Given the description of an element on the screen output the (x, y) to click on. 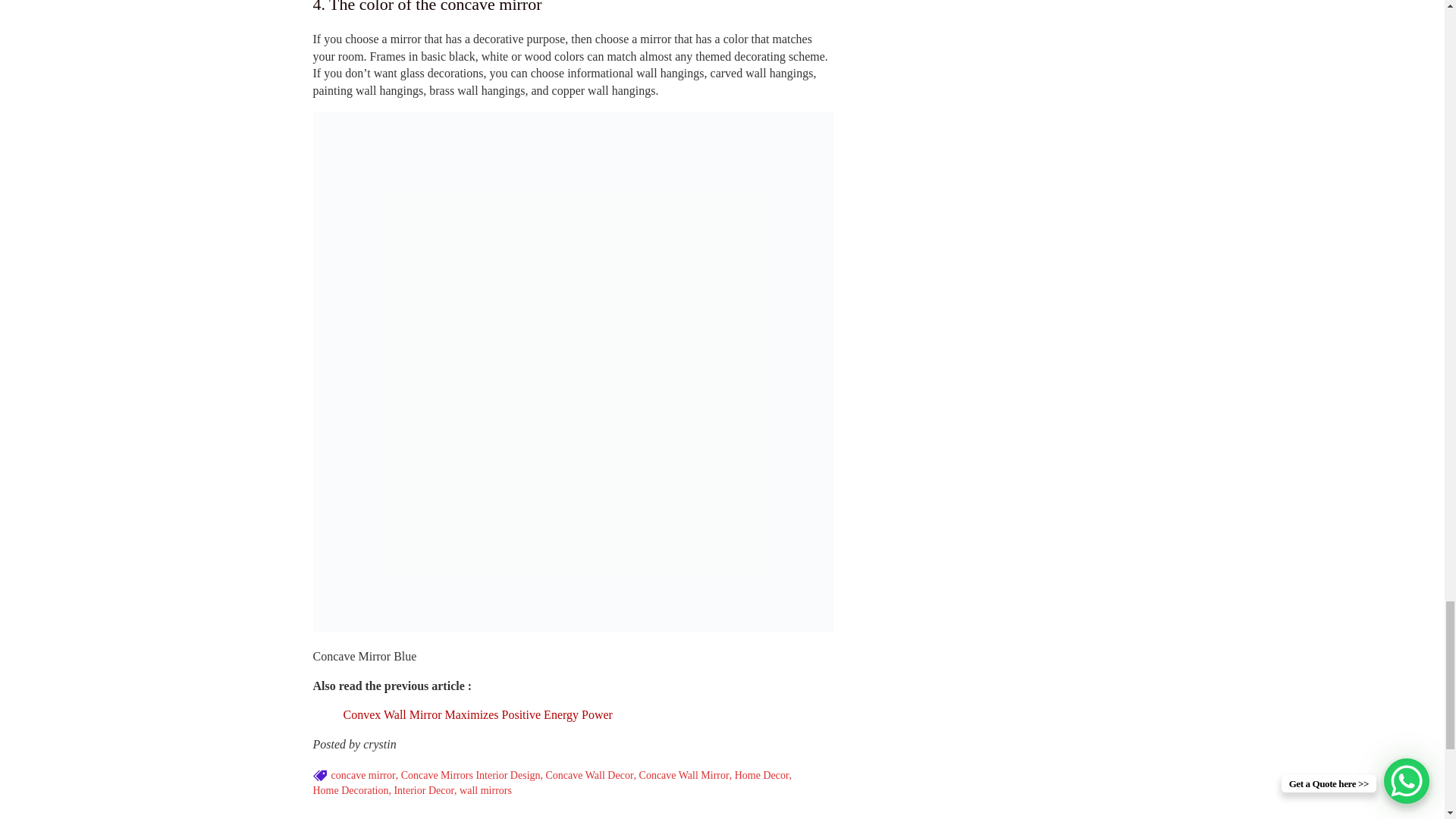
Home Decor (762, 775)
Interior Decor (423, 789)
Concave Mirrors Interior Design (470, 775)
wall mirrors (486, 789)
Concave Wall Decor (589, 775)
Concave Wall Mirror (684, 775)
Home Decoration (350, 789)
Convex Wall Mirror Maximizes Positive Energy Power (476, 714)
concave mirror (362, 775)
